Given the description of an element on the screen output the (x, y) to click on. 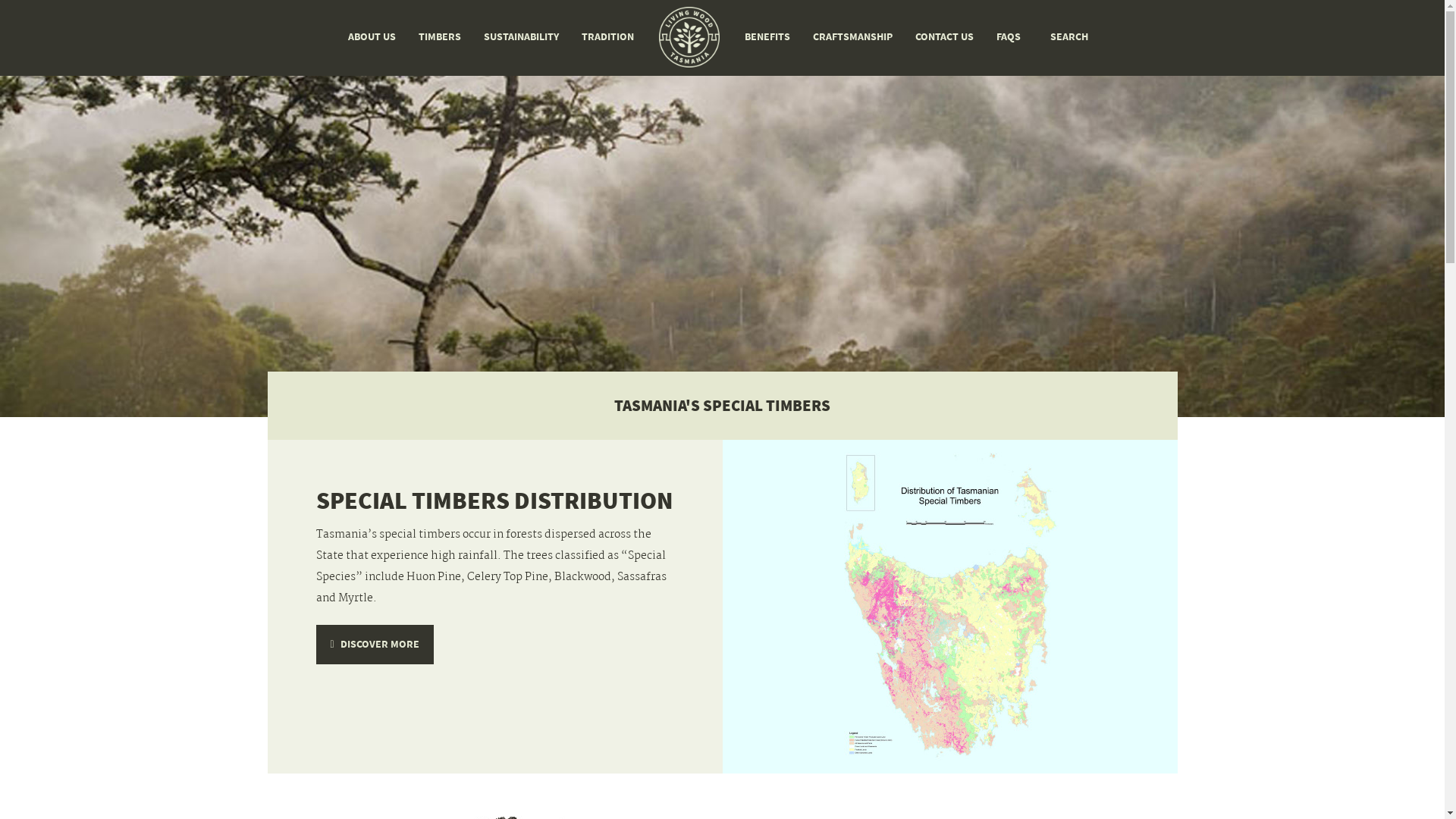
TIMBERS Element type: text (439, 36)
FAQS Element type: text (1008, 36)
DISCOVER MORE Element type: text (374, 644)
BENEFITS Element type: text (767, 36)
SUSTAINABILITY Element type: text (521, 36)
TRADITION Element type: text (607, 36)
Search Element type: text (36, 17)
CONTACT US Element type: text (944, 36)
SEARCH Element type: text (1066, 36)
ABOUT US Element type: text (371, 36)
CRAFTSMANSHIP Element type: text (852, 36)
